Given the description of an element on the screen output the (x, y) to click on. 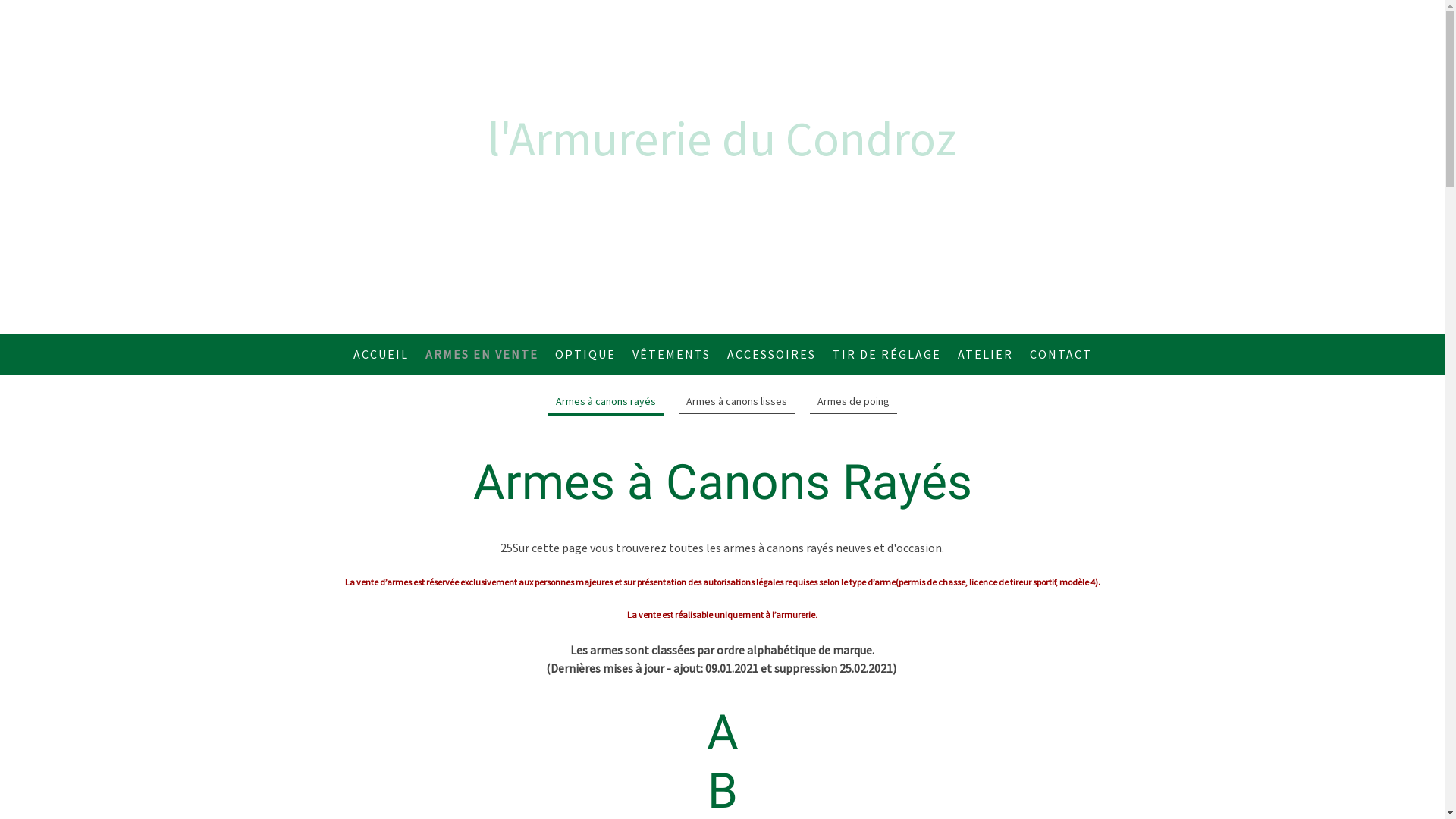
ATELIER Element type: text (985, 353)
ACCUEIL Element type: text (380, 353)
ARMES EN VENTE Element type: text (481, 353)
l'Armurerie du Condroz Element type: text (722, 137)
OPTIQUE Element type: text (584, 353)
ACCESSOIRES Element type: text (771, 353)
CONTACT Element type: text (1059, 353)
Armes de poing Element type: text (853, 401)
